Given the description of an element on the screen output the (x, y) to click on. 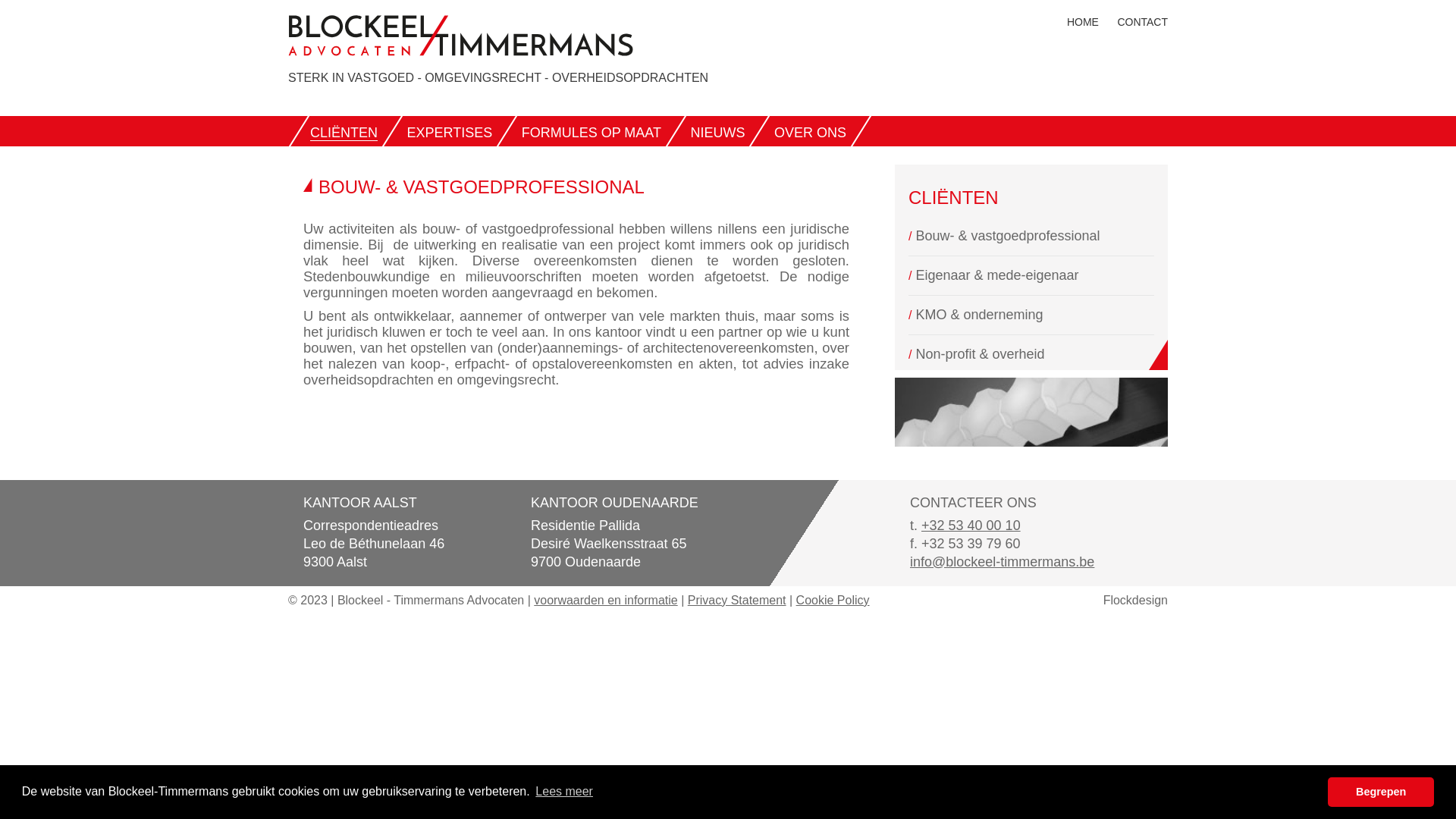
Cookie Policy Element type: text (832, 599)
Lees meer Element type: text (564, 791)
Eigenaar & mede-eigenaar Element type: text (996, 274)
EXPERTISES Element type: text (449, 132)
OVER ONS Element type: text (810, 132)
voorwaarden en informatie Element type: text (605, 599)
HOME Element type: text (1082, 21)
+32 53 40 00 10 Element type: text (970, 525)
Begrepen Element type: text (1380, 791)
Bouw- & vastgoedprofessional Element type: text (1007, 235)
Privacy Statement Element type: text (736, 599)
NIEUWS Element type: text (717, 132)
info@blockeel-timmermans.be Element type: text (1002, 561)
KMO & onderneming Element type: text (978, 314)
FORMULES OP MAAT Element type: text (591, 132)
Flockdesign Element type: text (1135, 599)
Non-profit & overheid Element type: text (979, 353)
CONTACT Element type: text (1142, 21)
